Given the description of an element on the screen output the (x, y) to click on. 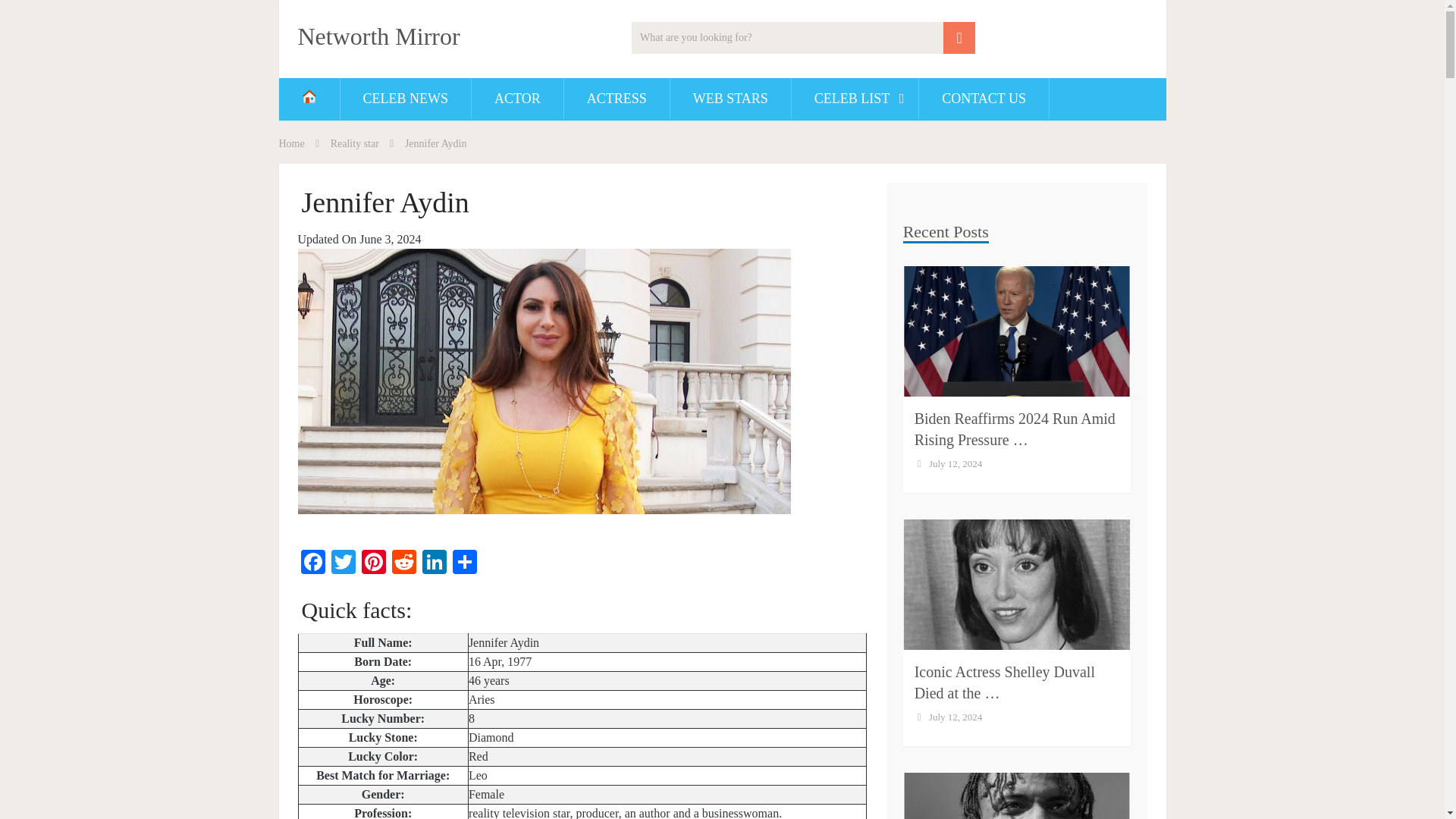
WEB STARS (729, 97)
Facebook (312, 563)
CONTACT US (983, 97)
Reality star (354, 143)
Reddit (403, 563)
LinkedIn (433, 563)
Pinterest (373, 563)
LinkedIn (433, 563)
Home (291, 143)
Twitter (342, 563)
CELEB NEWS (404, 97)
CELEB LIST (855, 97)
Networth Mirror (378, 36)
Reddit (403, 563)
Pinterest (373, 563)
